Given the description of an element on the screen output the (x, y) to click on. 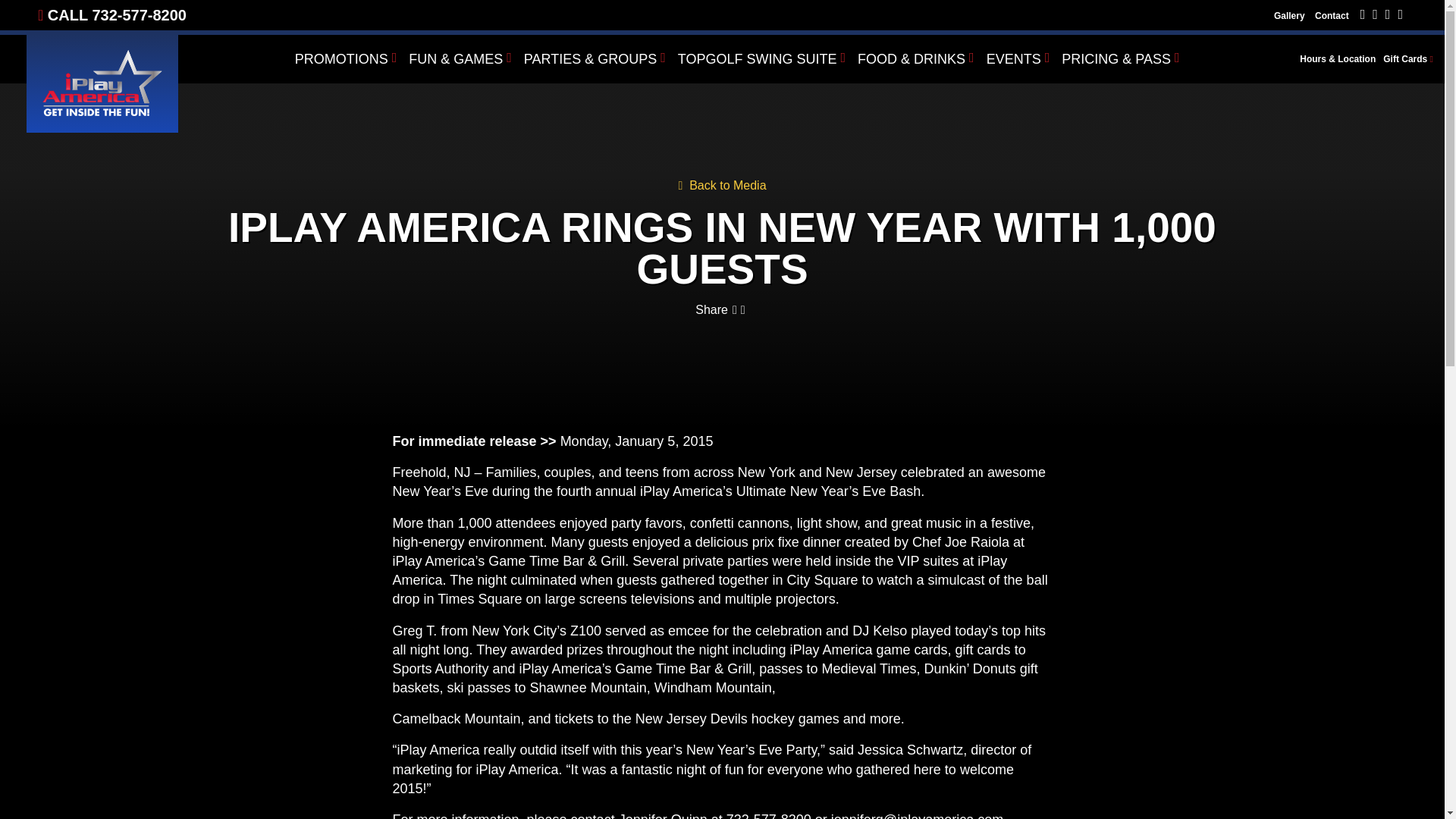
Share on Facebook (743, 309)
Gallery (1288, 18)
PROMOTIONS (345, 59)
 CALL 732-577-8200 (111, 14)
Contact (1331, 18)
iPlay America - Home (101, 83)
Share on Twitter (734, 309)
